Given the description of an element on the screen output the (x, y) to click on. 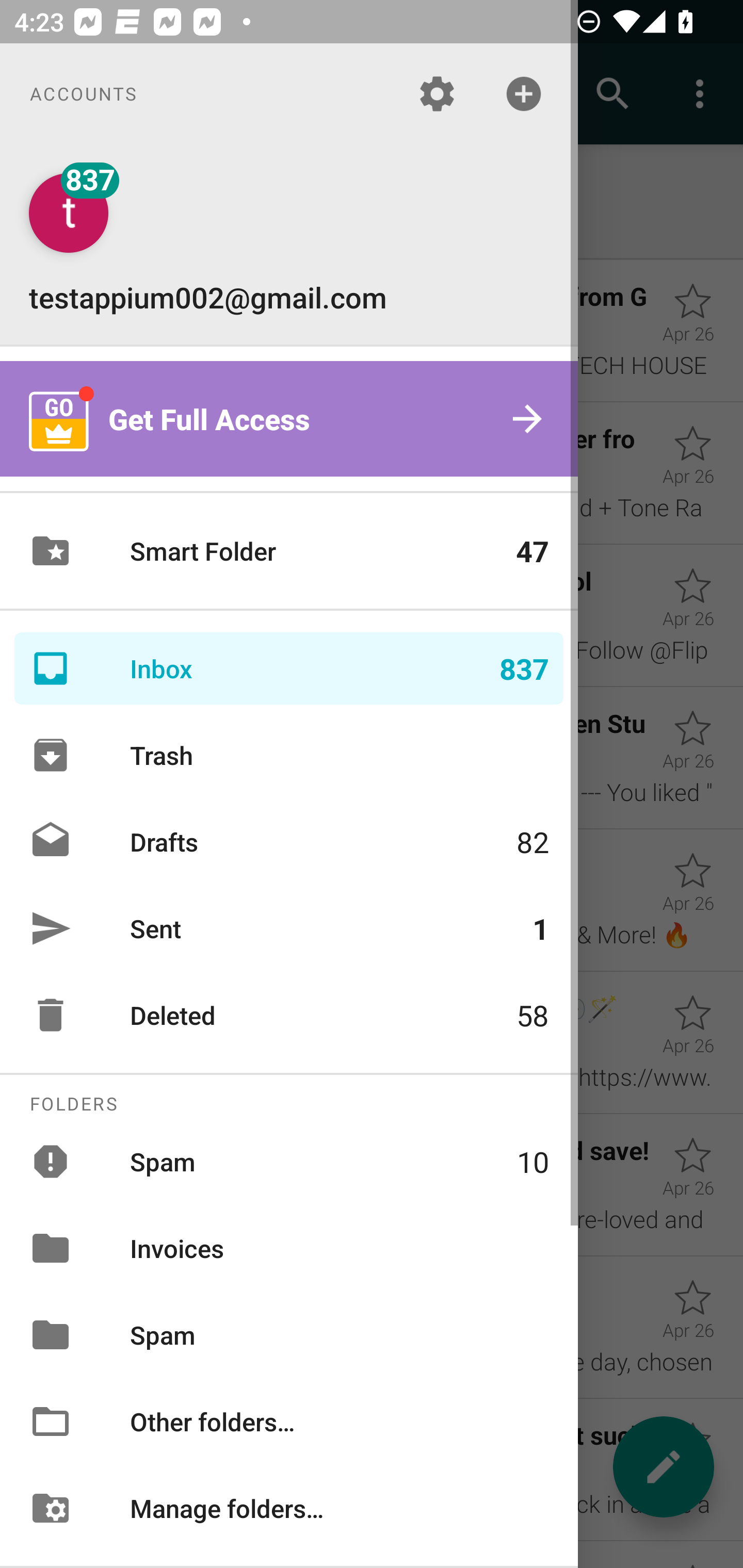
testappium002@gmail.com (289, 244)
Get Full Access (289, 418)
Smart Folder 47 (289, 551)
Inbox 837 (289, 668)
Trash (289, 754)
Drafts 82 (289, 841)
Sent 1 (289, 928)
Deleted 58 (289, 1015)
Spam 10 (289, 1160)
Invoices (289, 1248)
Spam (289, 1335)
Other folders… (289, 1421)
Manage folders… (289, 1507)
